Given the description of an element on the screen output the (x, y) to click on. 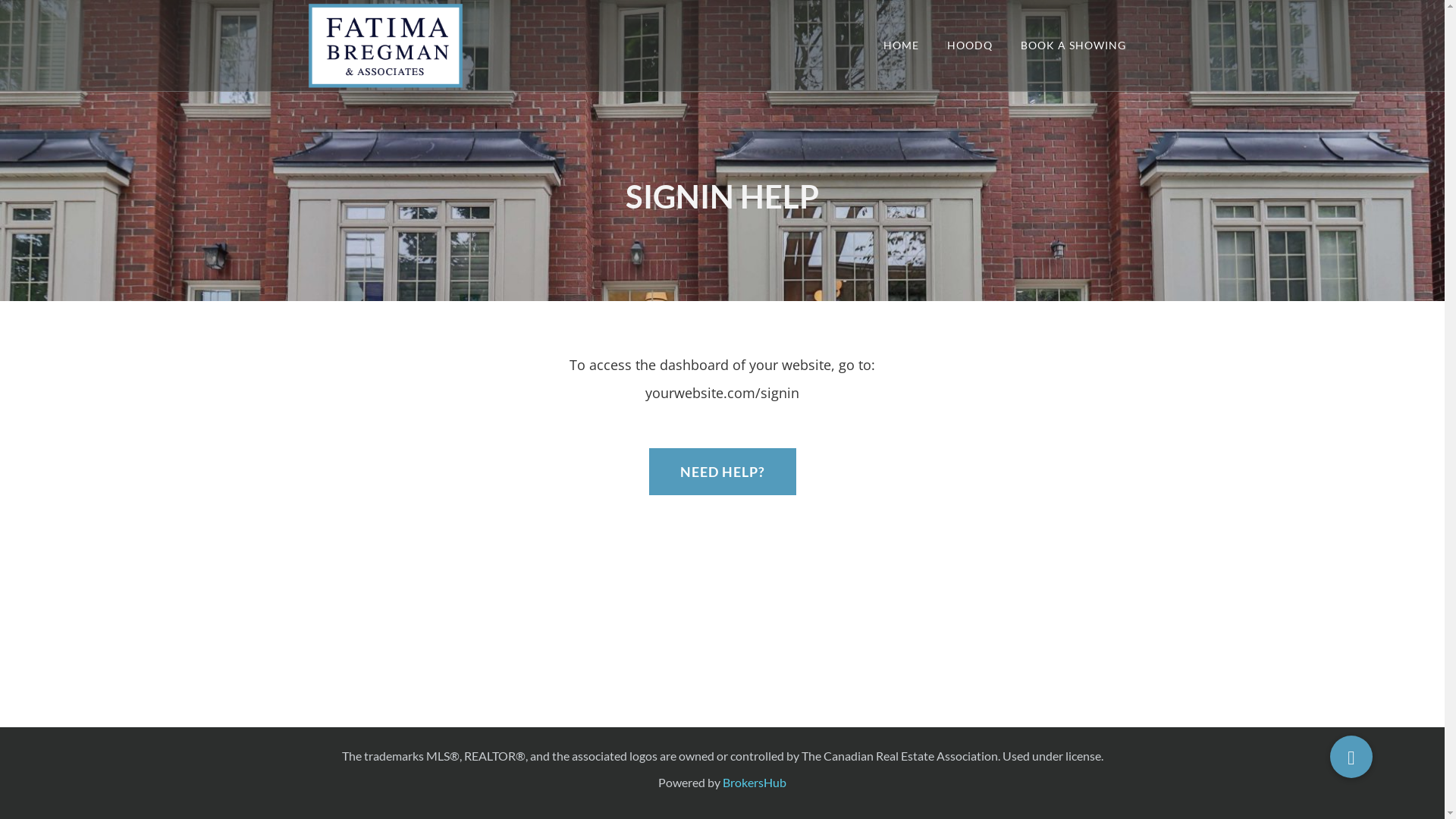
HOODQ Element type: text (968, 45)
BrokersHub Element type: text (754, 782)
HOME Element type: text (900, 45)
BOOK A SHOWING Element type: text (1073, 45)
NEED HELP? Element type: text (722, 471)
